Given the description of an element on the screen output the (x, y) to click on. 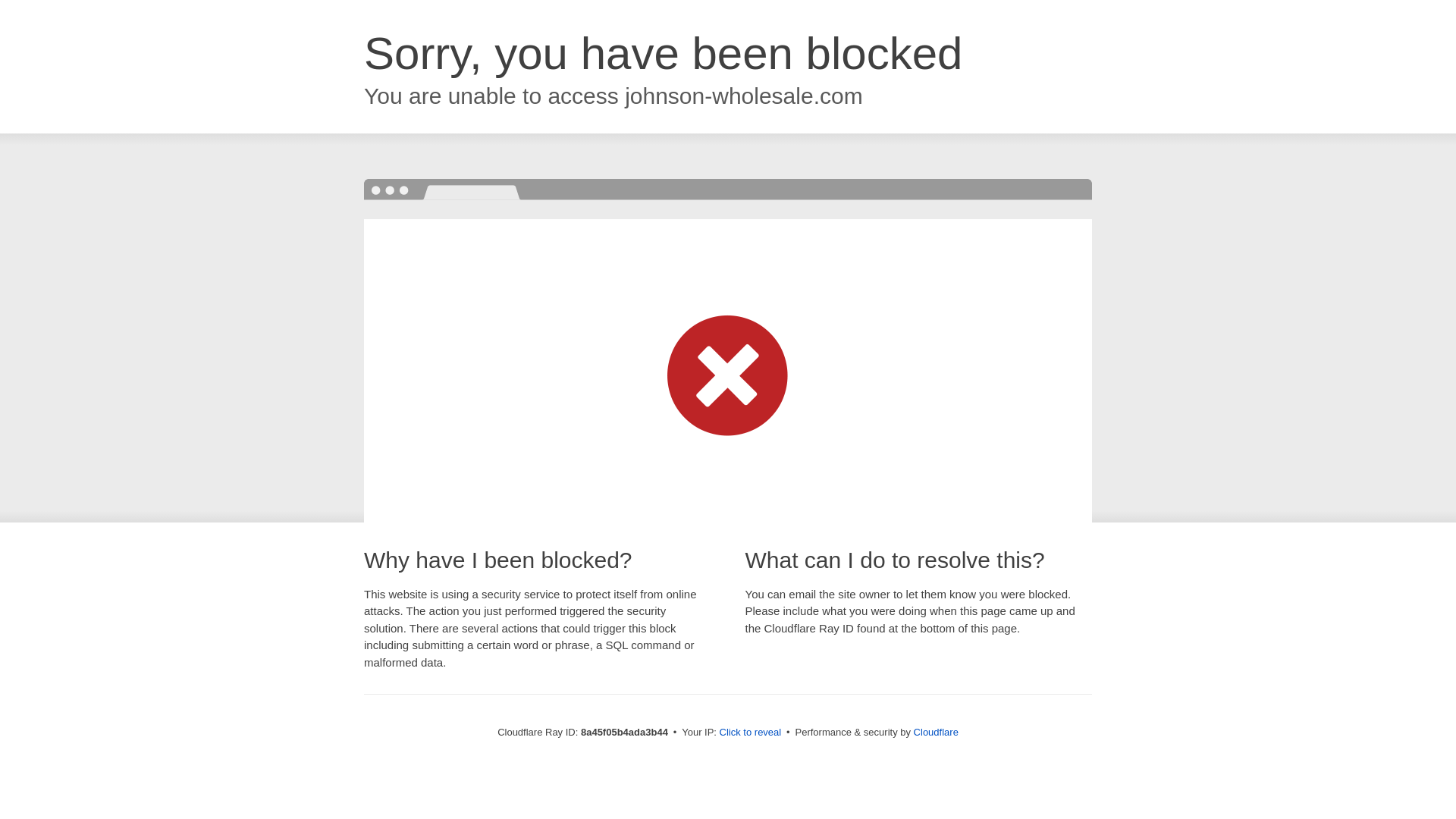
Cloudflare (936, 731)
Click to reveal (750, 732)
